Given the description of an element on the screen output the (x, y) to click on. 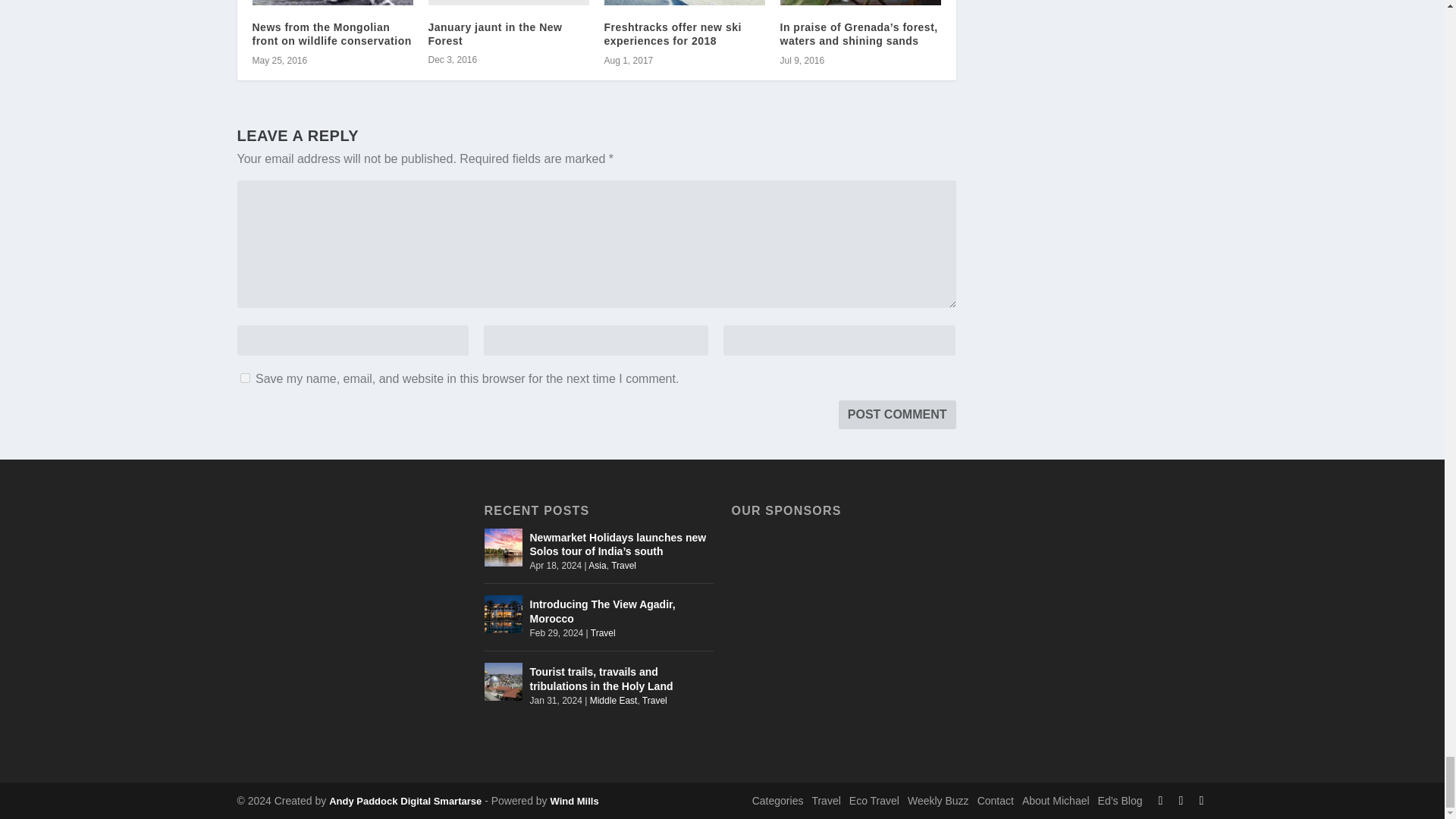
yes (244, 378)
Post Comment (897, 414)
